Given the description of an element on the screen output the (x, y) to click on. 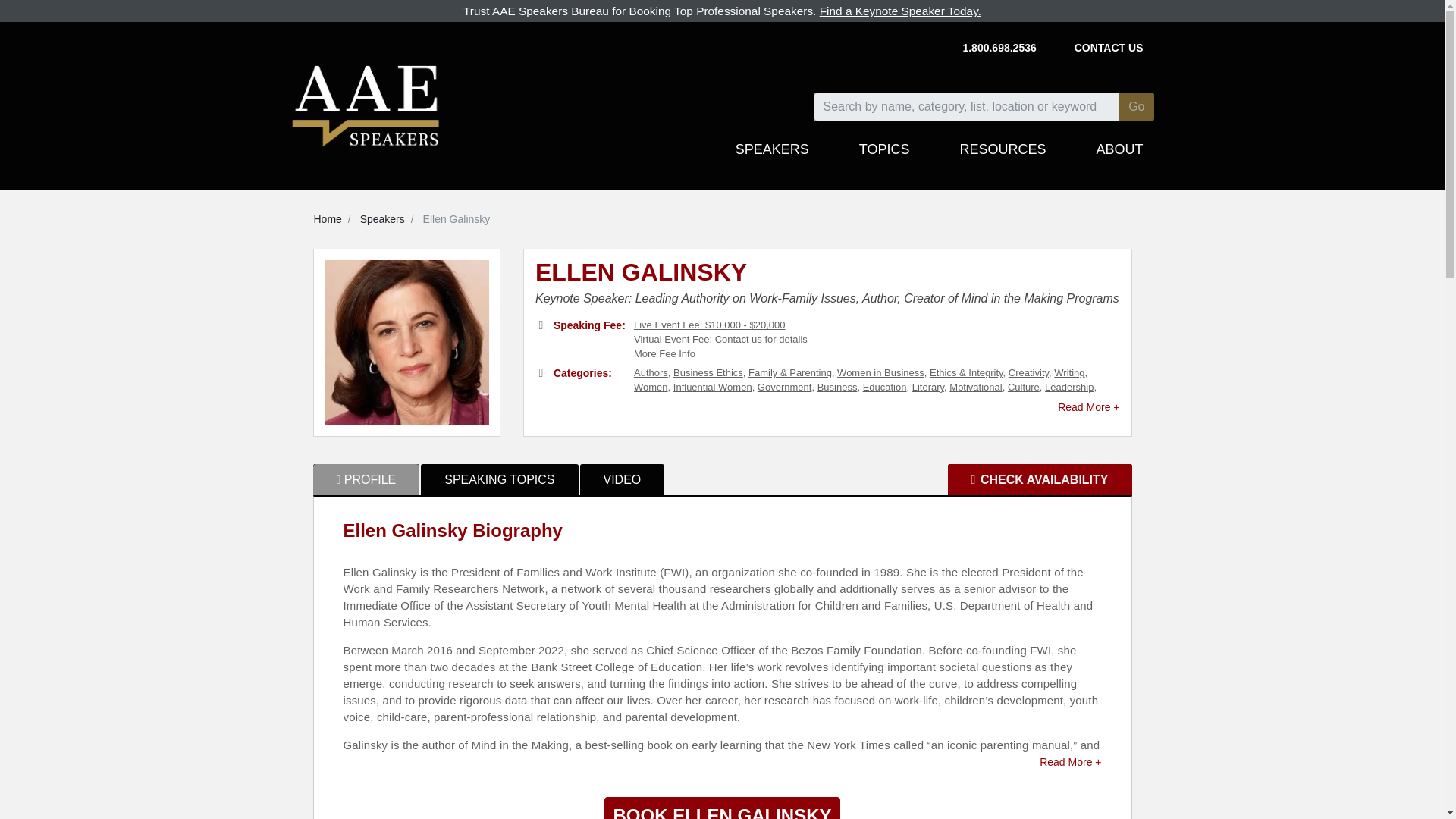
CONTACT US (1108, 48)
Home (328, 218)
Speakers (381, 218)
Women in Business (880, 372)
Go (1136, 106)
Virtual Event Fee: Contact us for details (720, 338)
TOPICS (884, 155)
Find a Keynote Speaker Today. (900, 10)
RESOURCES (1002, 155)
Go (1136, 106)
